Given the description of an element on the screen output the (x, y) to click on. 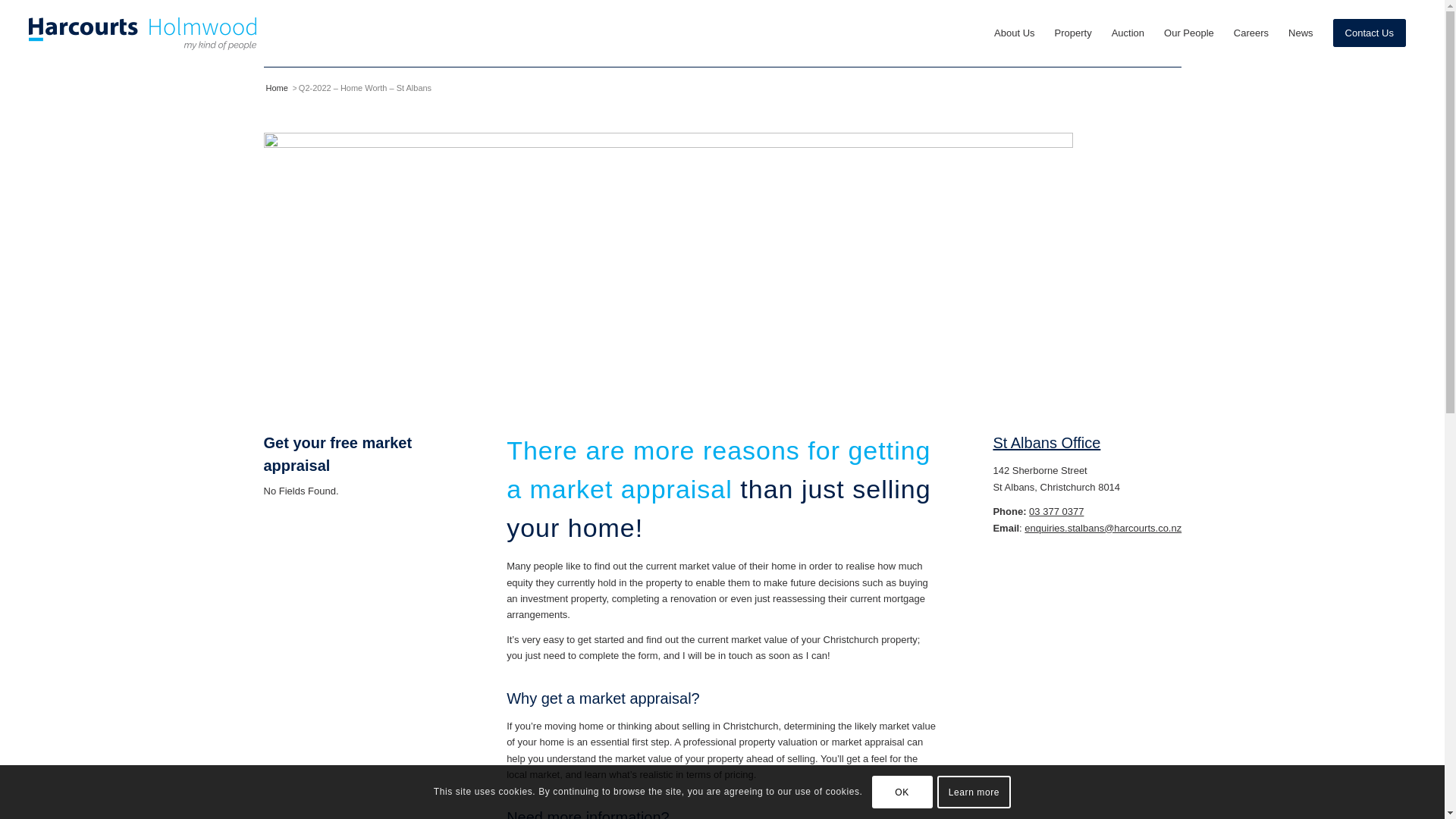
03 377 0377 (1056, 511)
Contact Us (1369, 33)
St Albans Office (1046, 442)
Our People (1189, 33)
Harcourts Holmwood (276, 88)
Home (276, 88)
About Us (1013, 33)
